Given the description of an element on the screen output the (x, y) to click on. 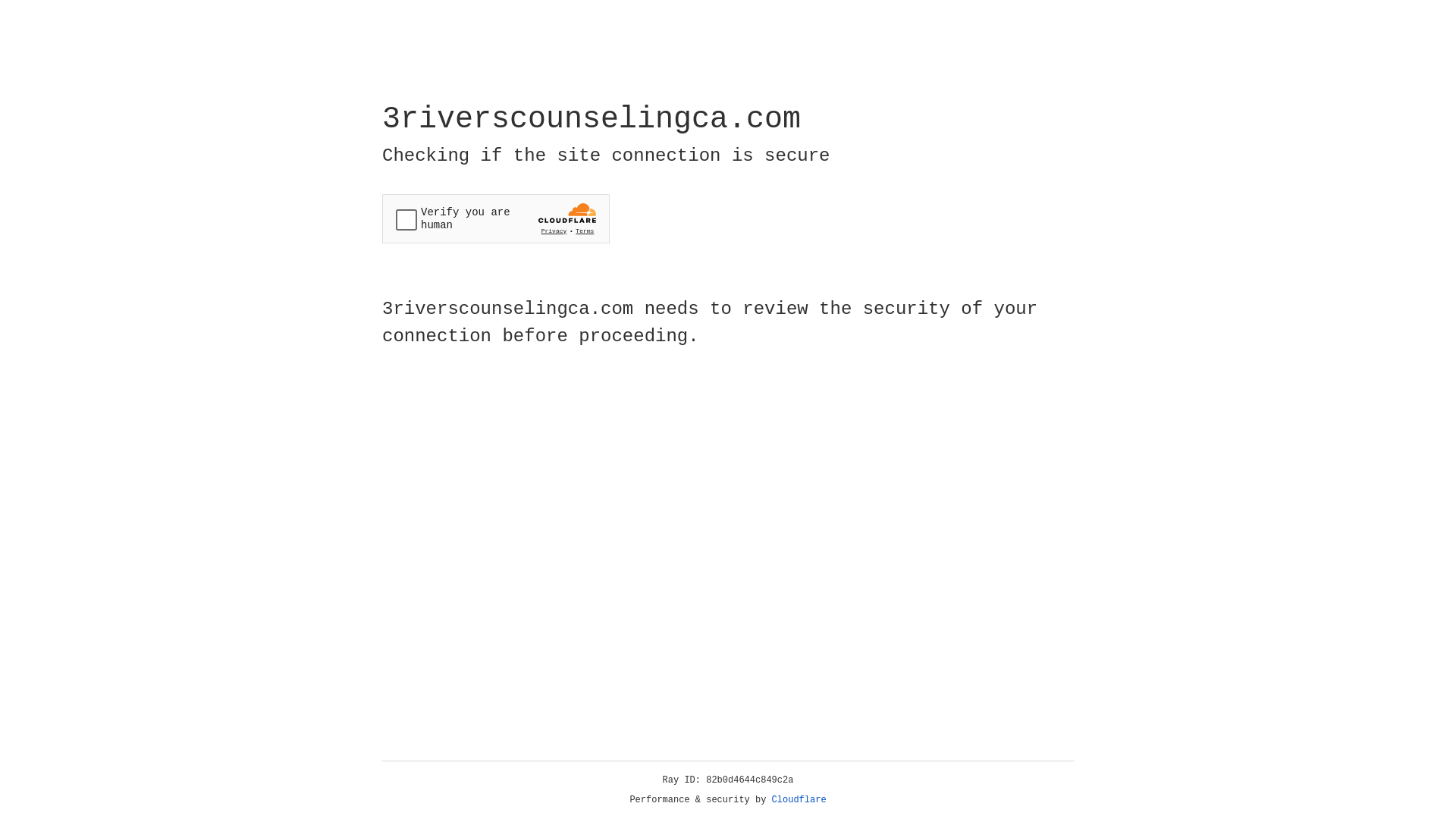
Cloudflare Element type: text (798, 799)
Widget containing a Cloudflare security challenge Element type: hover (495, 218)
